Given the description of an element on the screen output the (x, y) to click on. 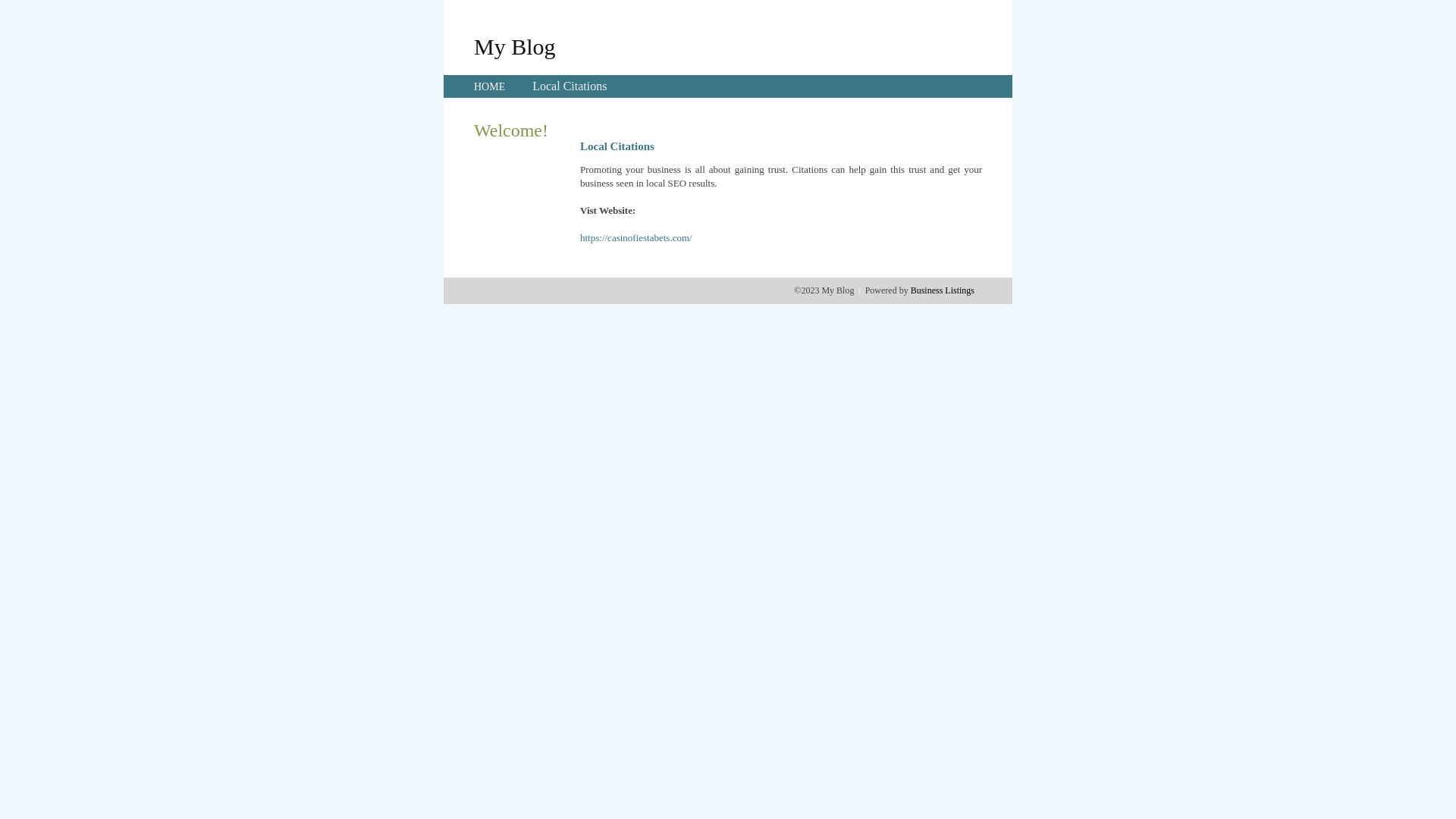
https://casinofiestabets.com/ Element type: text (636, 237)
Business Listings Element type: text (942, 290)
HOME Element type: text (489, 86)
My Blog Element type: text (514, 46)
Local Citations Element type: text (569, 85)
